Given the description of an element on the screen output the (x, y) to click on. 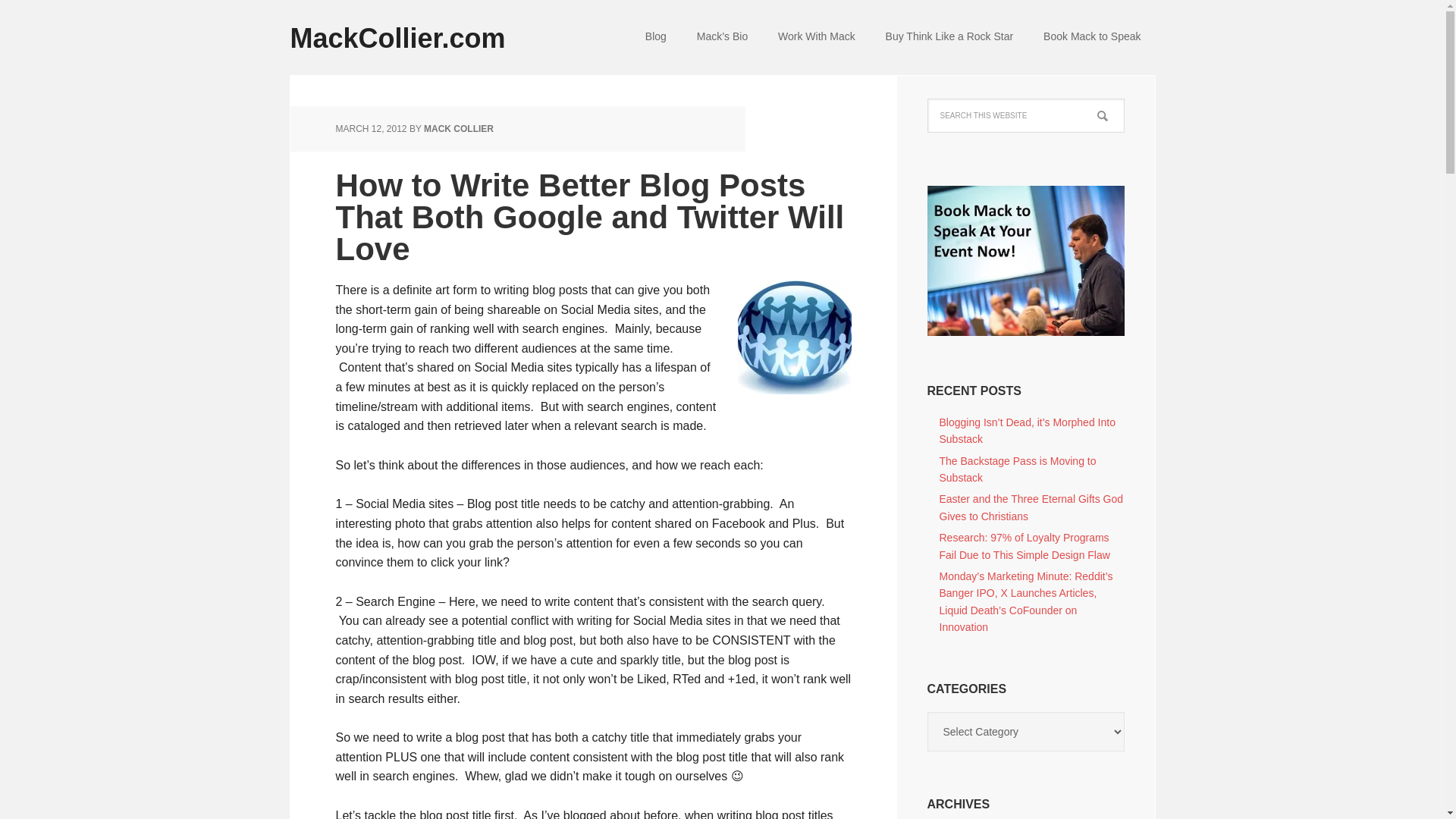
Peopleball (793, 336)
Book Mack to Speak (1091, 37)
Work With Mack (816, 37)
Buy Think Like a Rock Star (949, 37)
The Backstage Pass is Moving to Substack (1017, 469)
MackCollier.com (410, 27)
MACK COLLIER (458, 128)
